Given the description of an element on the screen output the (x, y) to click on. 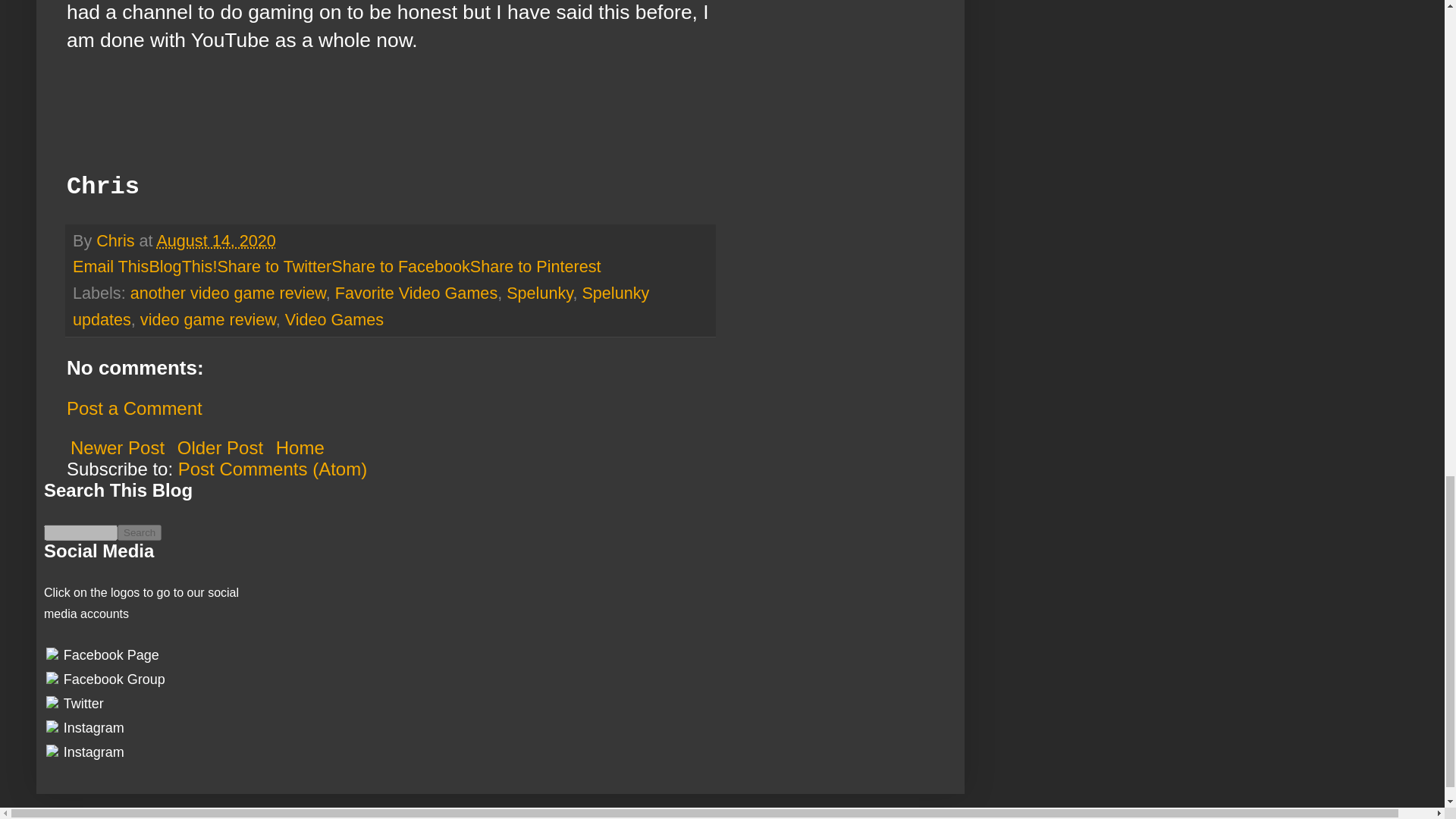
Post a Comment (134, 408)
BlogThis! (182, 266)
Video Games (334, 319)
Search (139, 532)
Older Post (219, 447)
Home (300, 447)
search (139, 532)
Email This (110, 266)
author profile (117, 240)
Share to Facebook (399, 266)
Share to Pinterest (535, 266)
Email This (110, 266)
Share to Pinterest (535, 266)
Share to Twitter (273, 266)
search (80, 532)
